Given the description of an element on the screen output the (x, y) to click on. 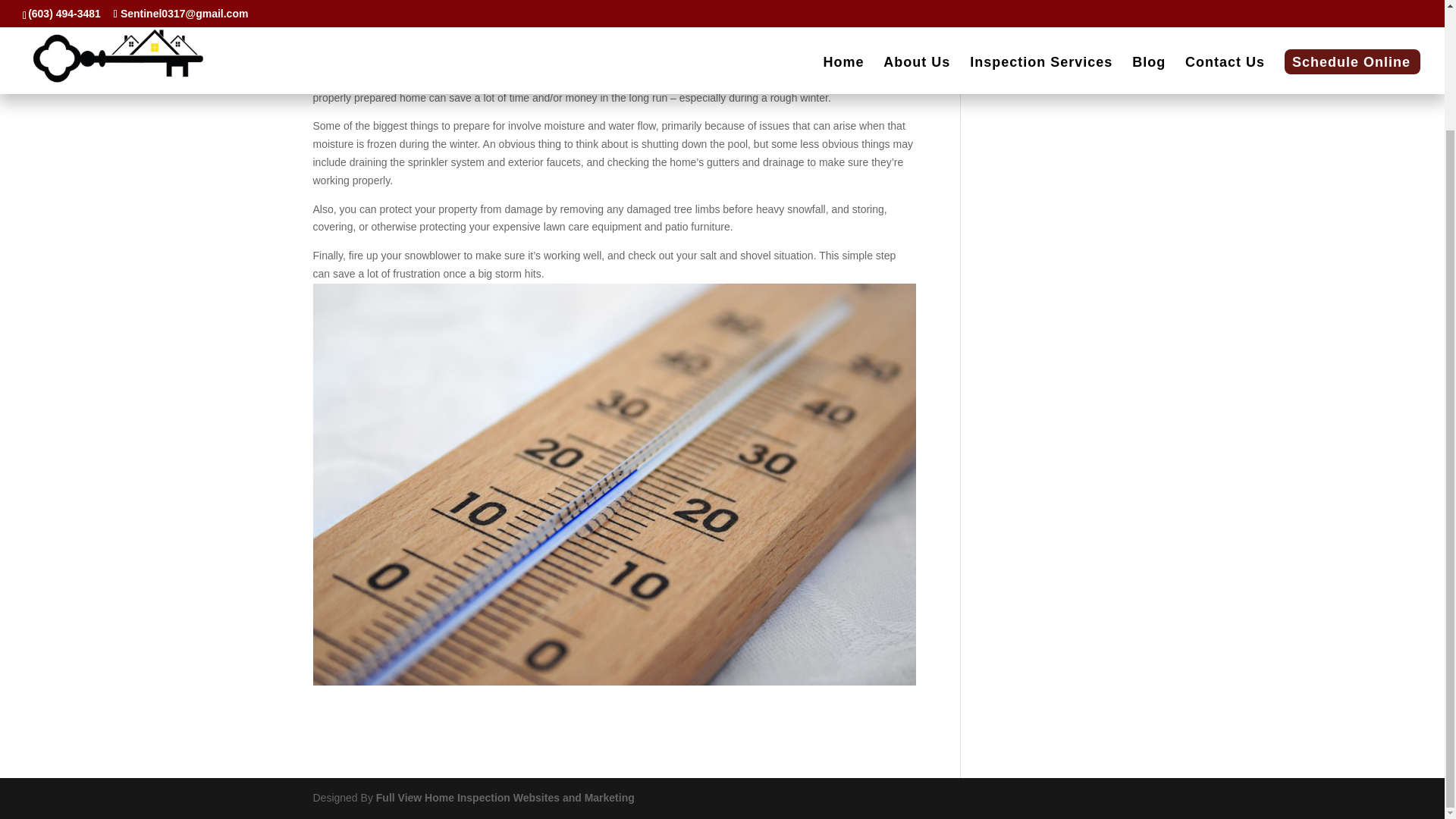
Uncategorized (485, 22)
Inspector (348, 22)
Posts by Inspector (348, 22)
Full View Home Inspection Websites and Marketing (504, 797)
